Given the description of an element on the screen output the (x, y) to click on. 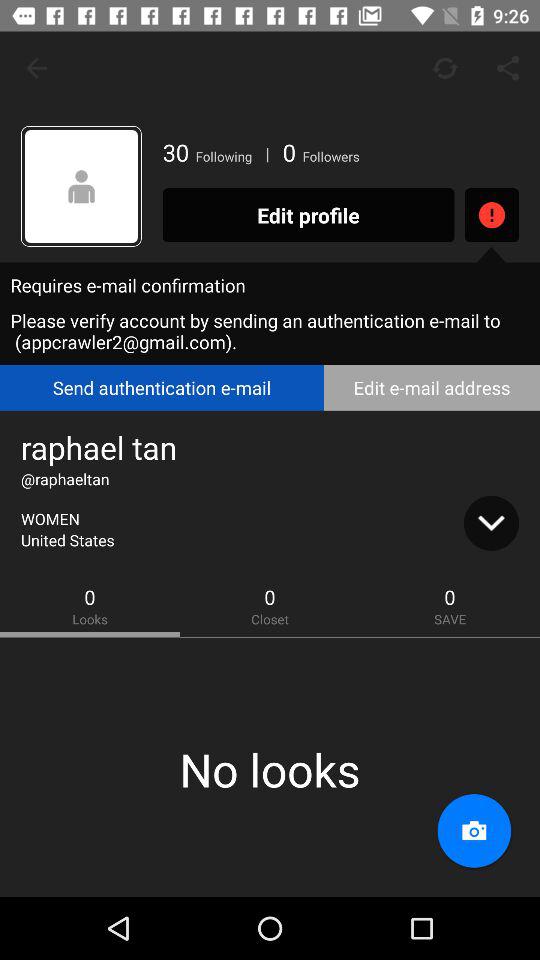
view more information (491, 523)
